Given the description of an element on the screen output the (x, y) to click on. 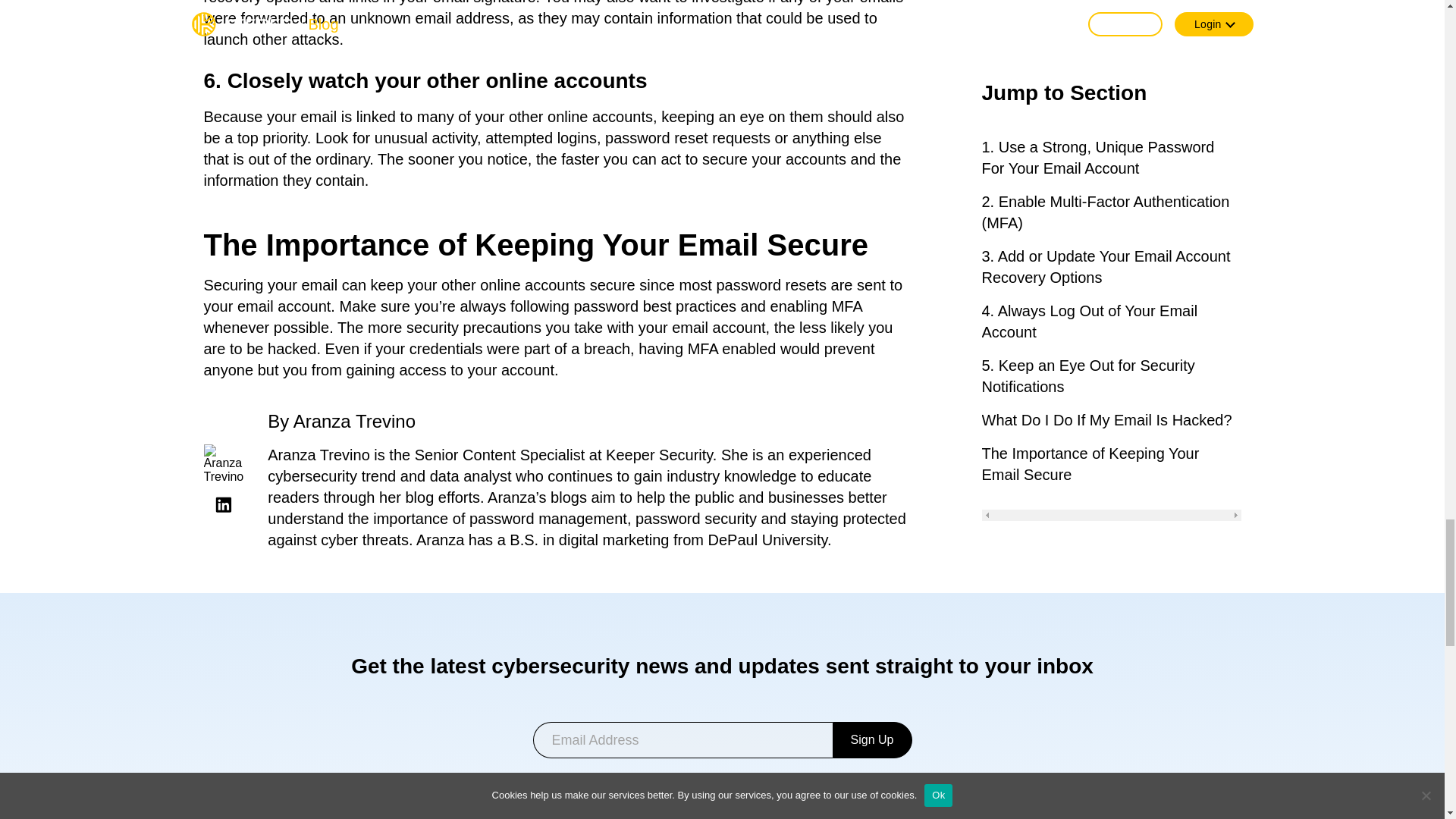
Aranza Trevino (354, 421)
Sign Up (872, 739)
